Given the description of an element on the screen output the (x, y) to click on. 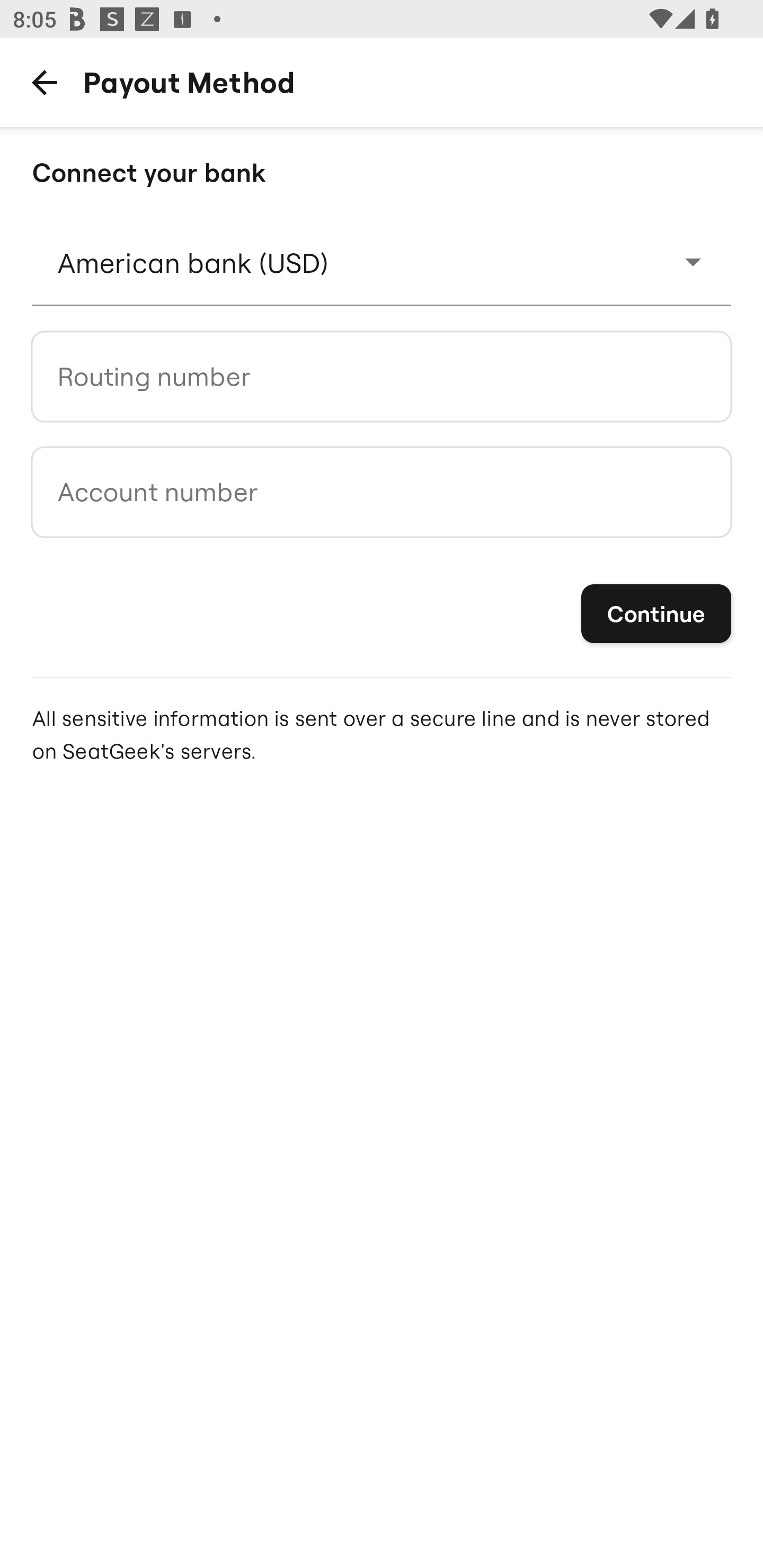
Back (44, 81)
Dropdown menu American bank (USD) (381, 261)
Routing number (381, 375)
Account number (381, 491)
Continue (655, 613)
